Given the description of an element on the screen output the (x, y) to click on. 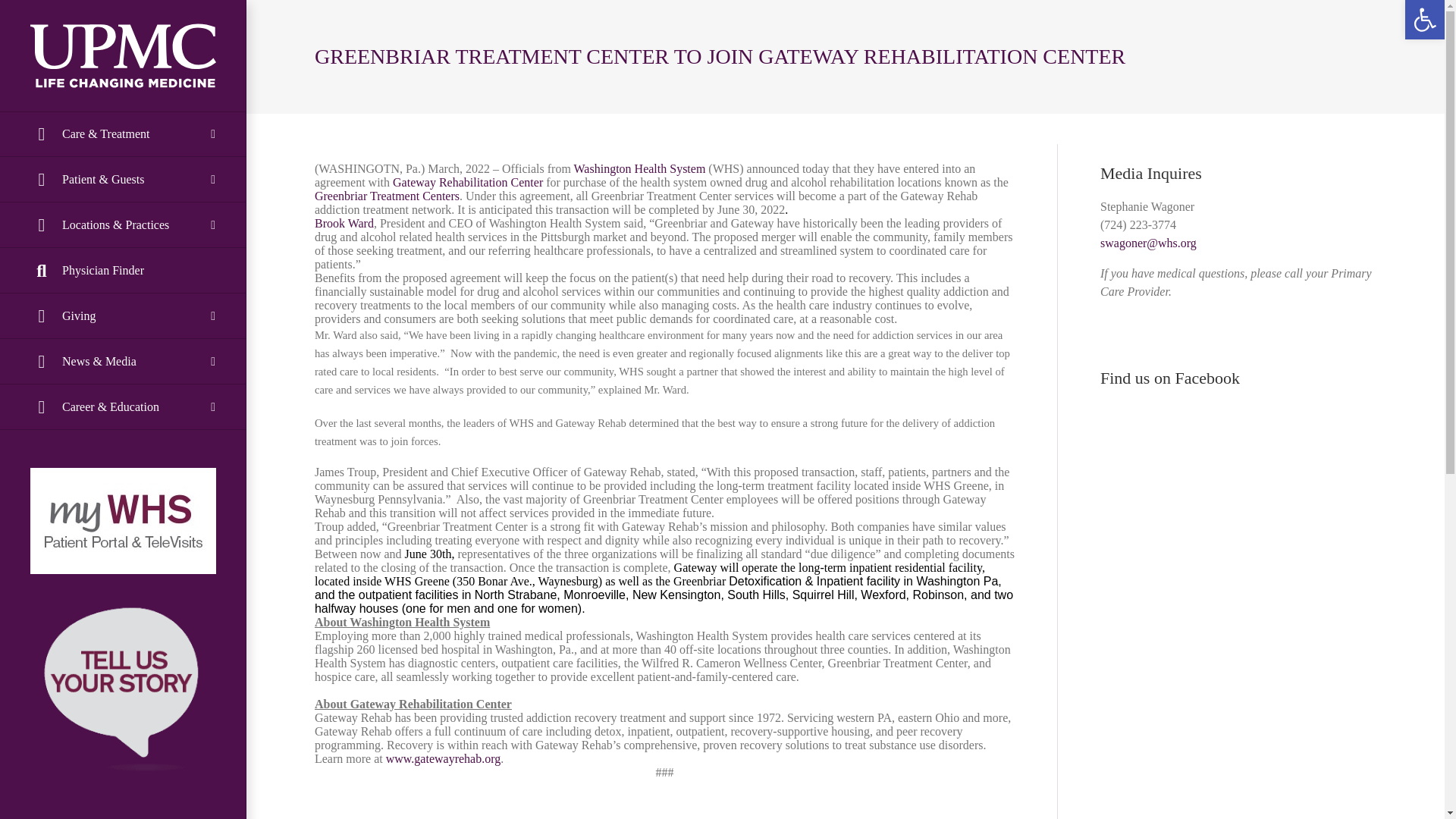
WHS Team Portal (122, 816)
Accessibility Tools (1424, 19)
